Given the description of an element on the screen output the (x, y) to click on. 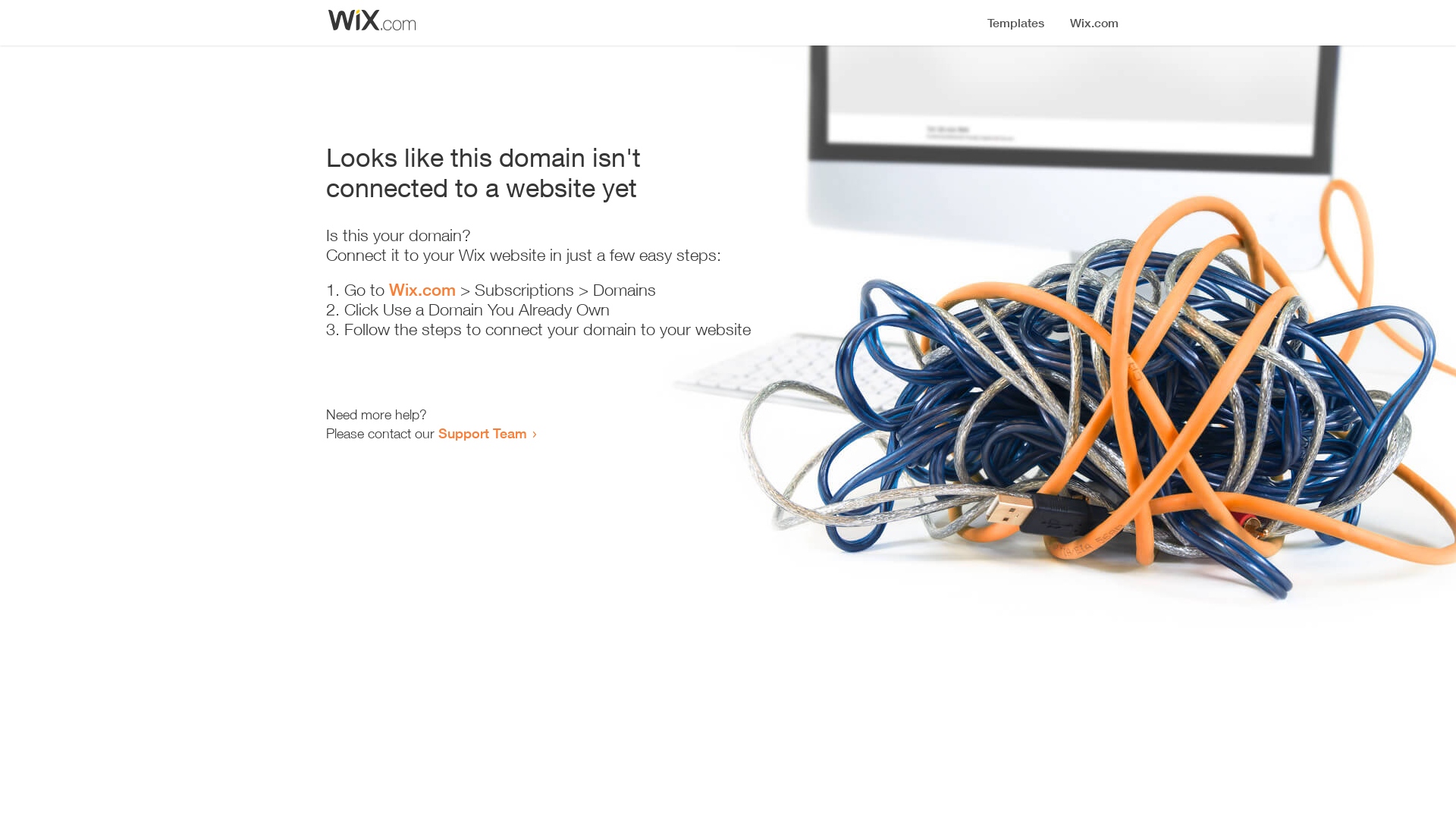
Wix.com Element type: text (422, 289)
Support Team Element type: text (482, 432)
